Given the description of an element on the screen output the (x, y) to click on. 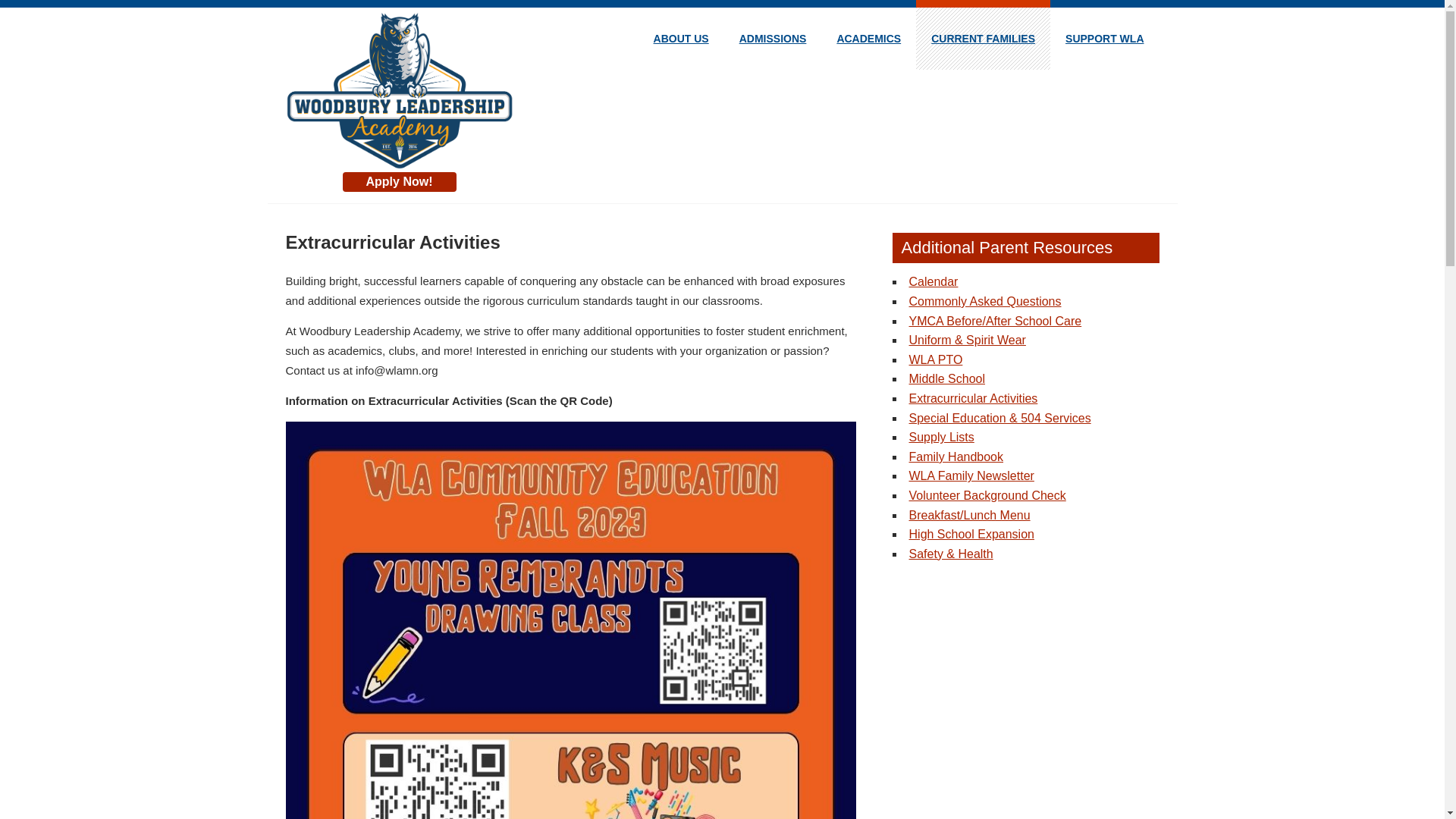
WLA PTO (935, 359)
CURRENT FAMILIES (982, 38)
Calendar (933, 281)
SUPPORT WLA (1103, 38)
Commonly Asked Questions (984, 300)
Apply Now! (399, 181)
Middle School (946, 378)
ACADEMICS (868, 38)
ADMISSIONS (772, 38)
ABOUT US (681, 38)
